Given the description of an element on the screen output the (x, y) to click on. 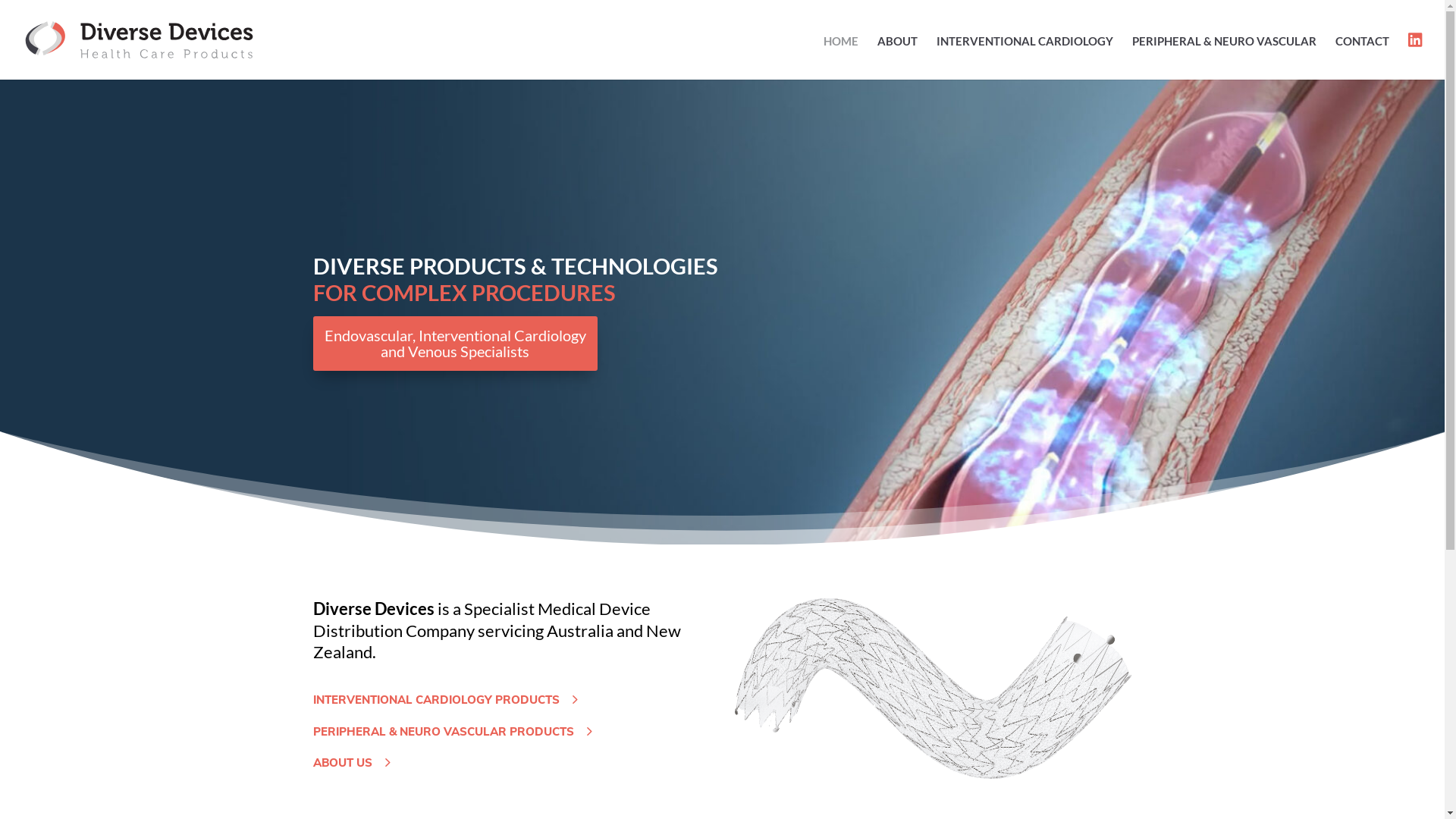
INTERVENTIONAL CARDIOLOGY PRODUCTS Element type: text (435, 699)
INTERVENTIONAL CARDIOLOGY Element type: text (1024, 56)
PERIPHERAL & NEURO VASCULAR PRODUCTS Element type: text (442, 731)
CONTACT Element type: text (1362, 56)
PERIPHERAL & NEURO VASCULAR Element type: text (1224, 56)
ABOUT US Element type: text (341, 762)
ABOUT Element type: text (897, 56)
HOME Element type: text (840, 56)
